Given the description of an element on the screen output the (x, y) to click on. 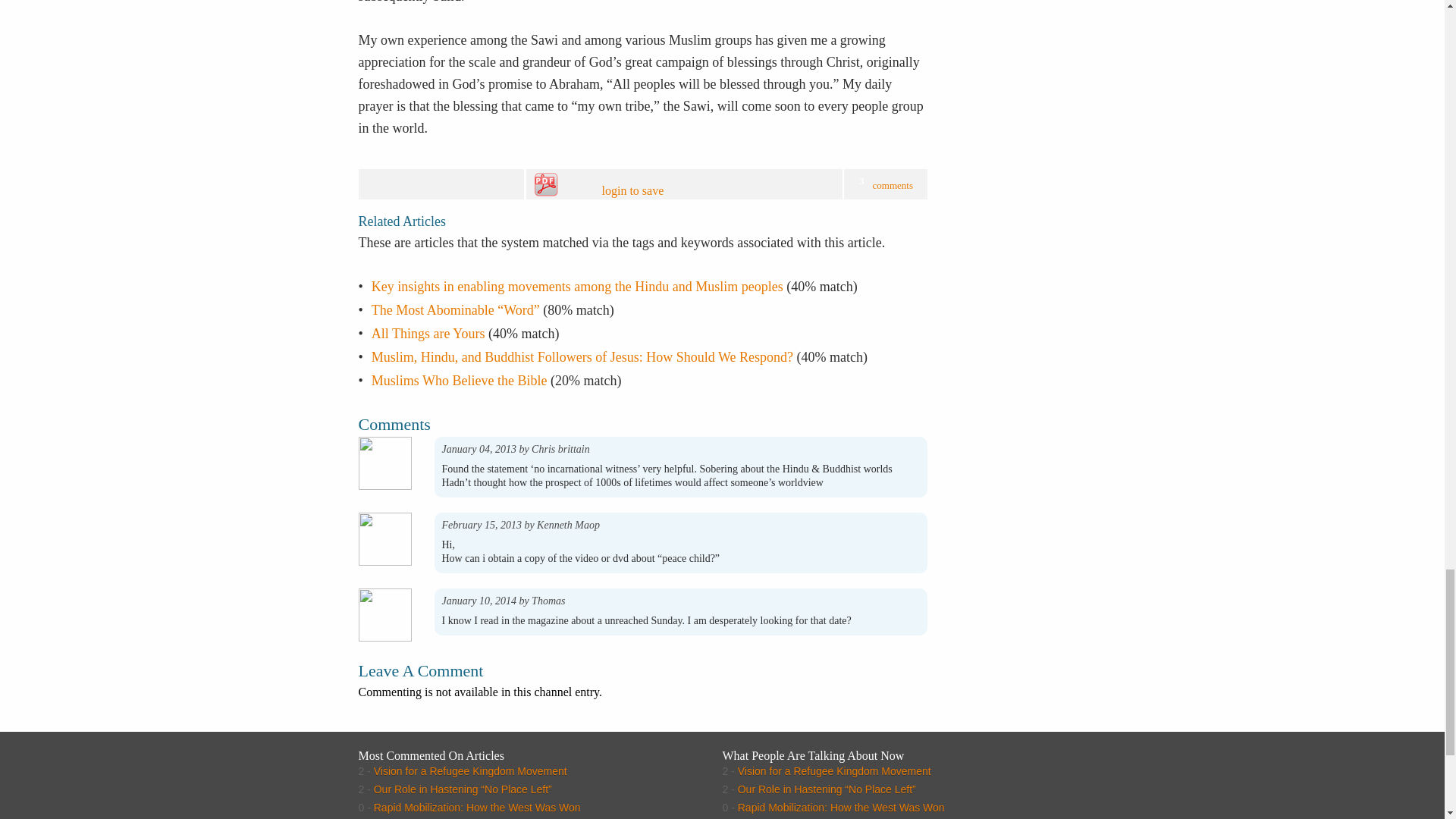
Muslims Who Believe the Bible (459, 380)
All Things are Yours (427, 333)
comments (892, 184)
login to save (666, 184)
